Given the description of an element on the screen output the (x, y) to click on. 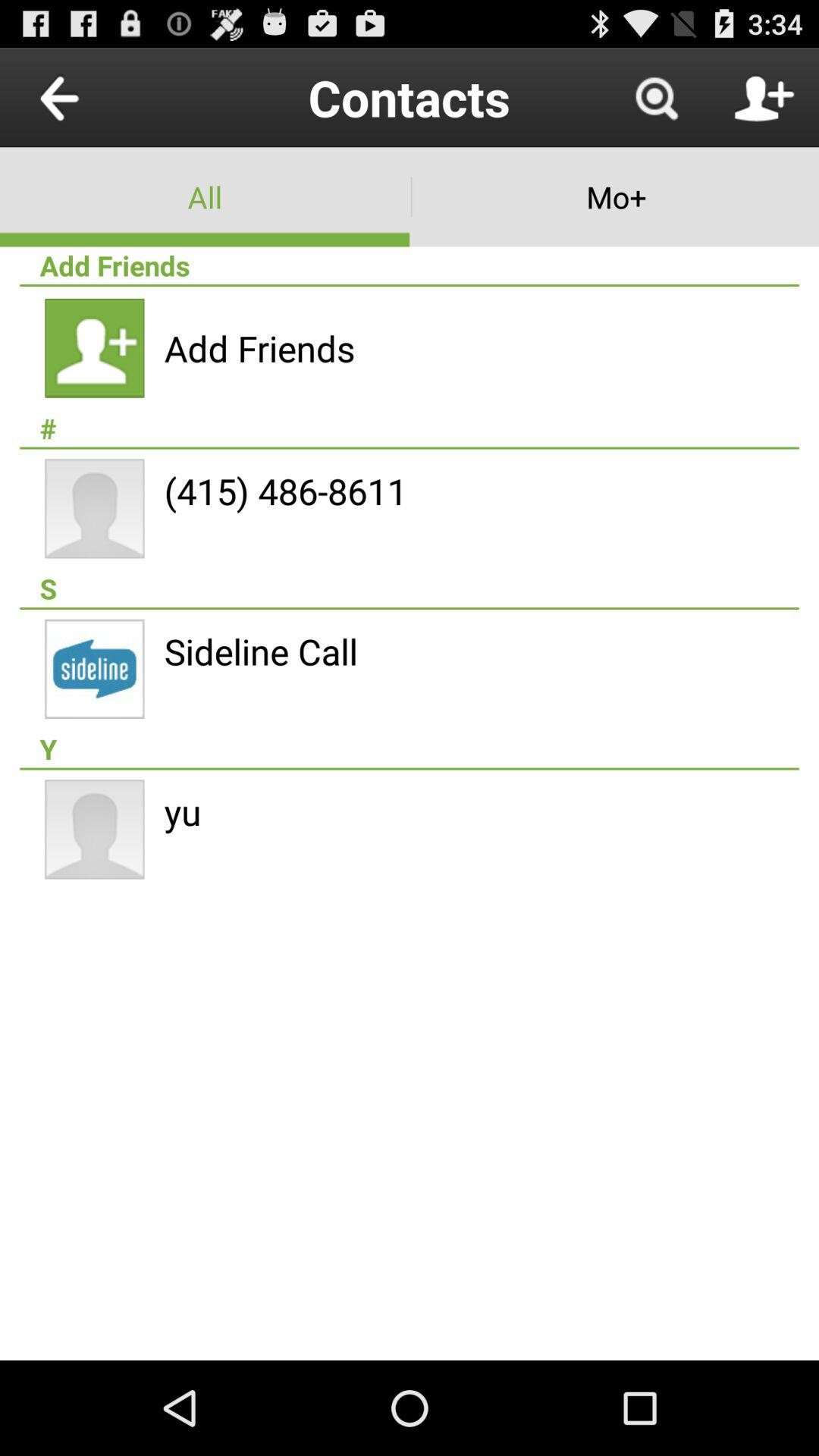
tap the item above the mo+ (655, 97)
